Given the description of an element on the screen output the (x, y) to click on. 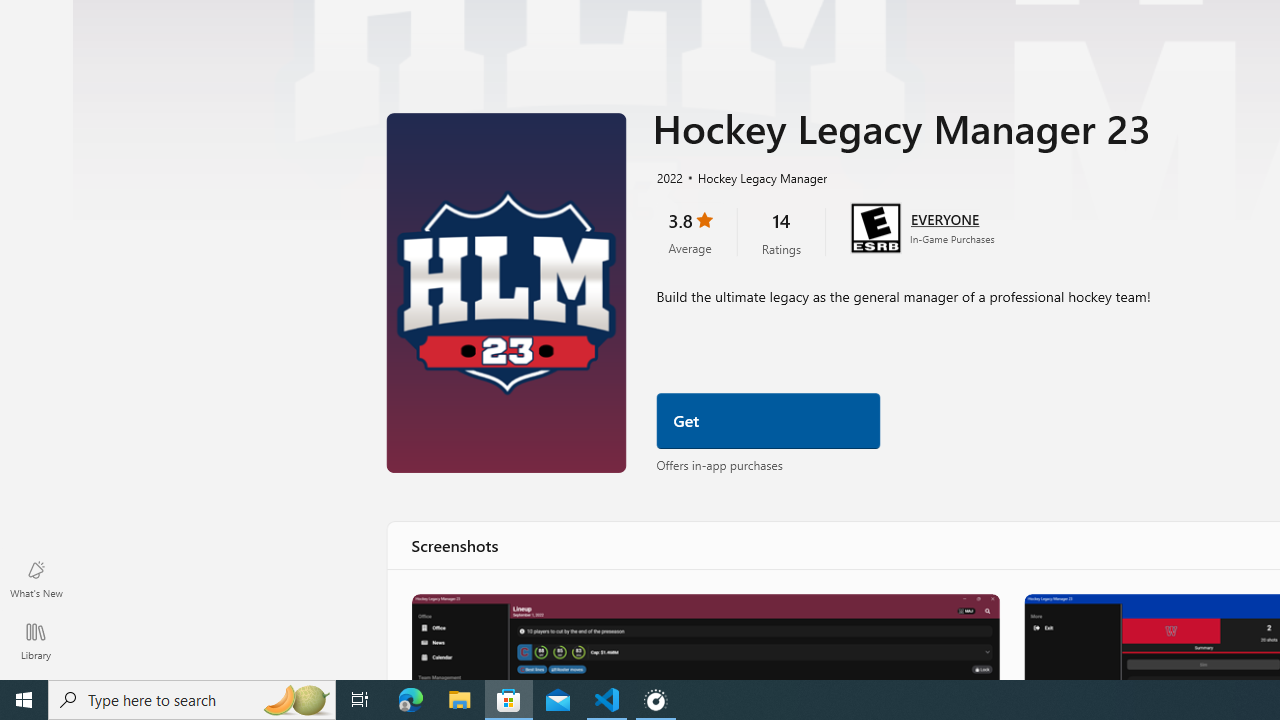
3.8 stars. Click to skip to ratings and reviews (689, 232)
What's New (35, 578)
Hockey Legacy Manager (753, 177)
Library (35, 640)
2022 (667, 177)
Age rating: EVERYONE. Click for more information. (945, 218)
Screenshot 1 (704, 636)
Get (767, 421)
